Given the description of an element on the screen output the (x, y) to click on. 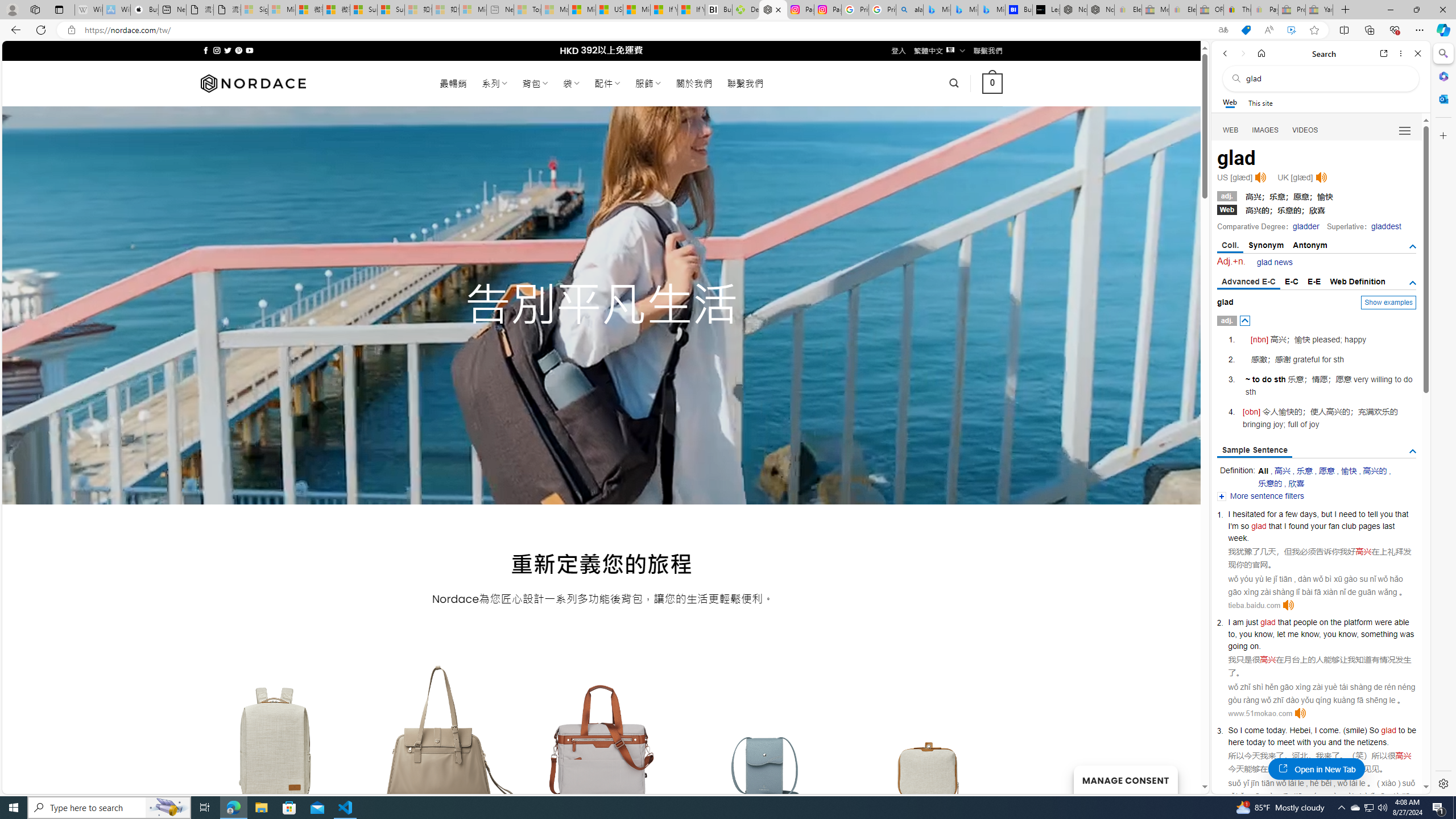
New tab - Sleeping (499, 9)
me (1292, 633)
E-E (1314, 281)
Web Definition (1357, 281)
Restore (1416, 9)
AutomationID: posbtn_0 (1245, 320)
AutomationID: tgdef_sen (1412, 451)
Nordace (252, 83)
  0   (992, 83)
